Given the description of an element on the screen output the (x, y) to click on. 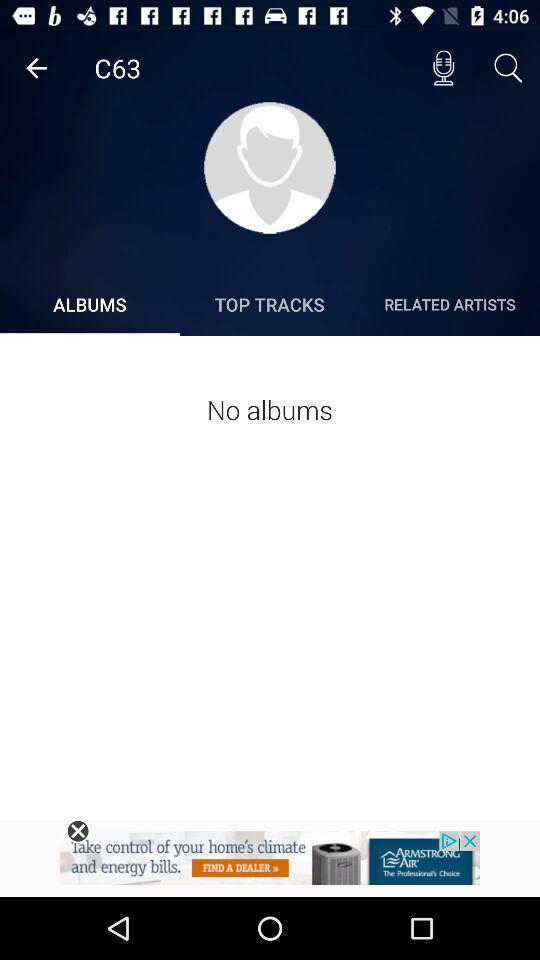
close the advertisement banner (78, 831)
